Given the description of an element on the screen output the (x, y) to click on. 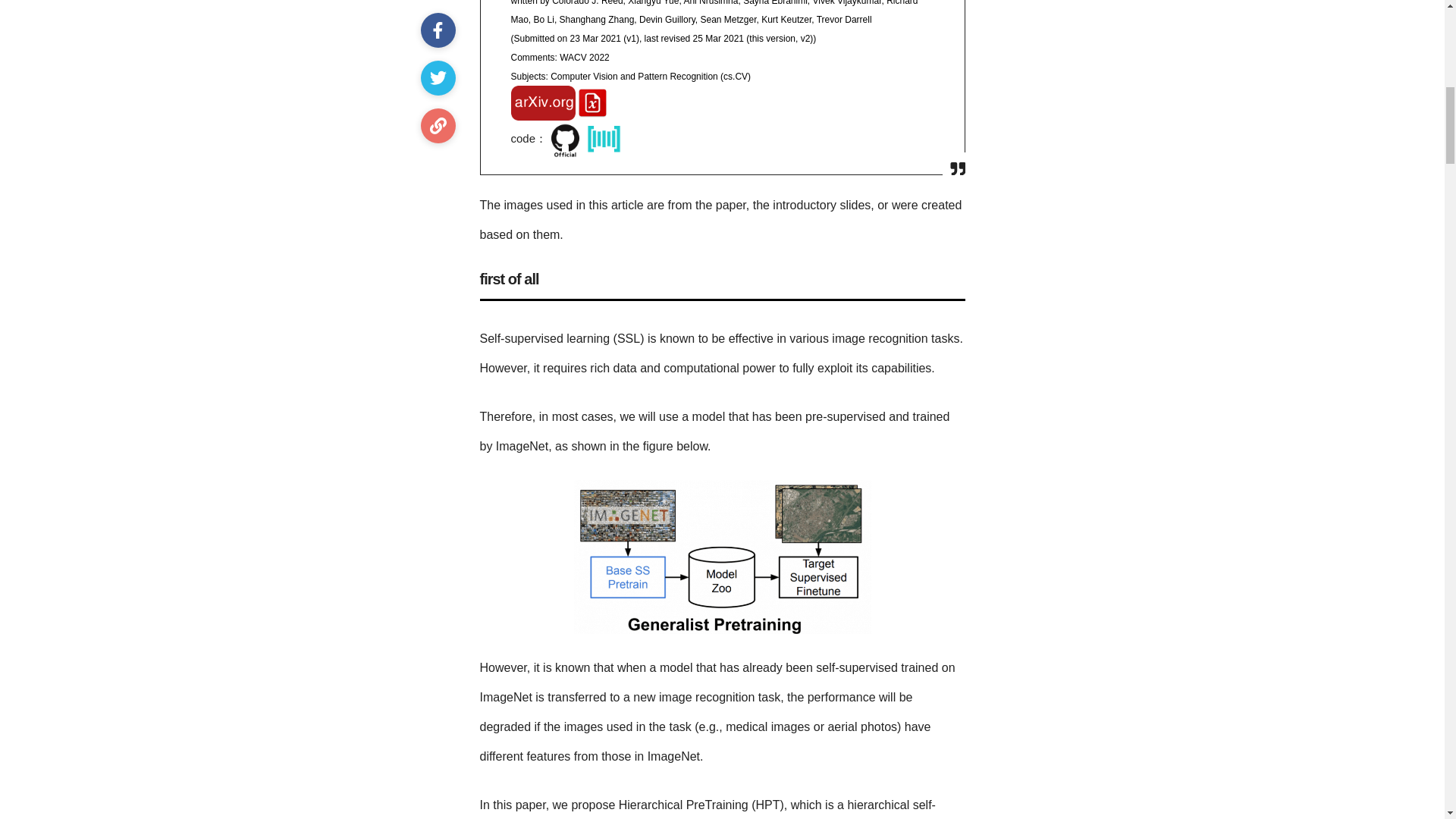
Bo Li (544, 19)
Colorado J. Reed (587, 2)
Ani Nrusimha (710, 2)
Trevor Darrell (844, 19)
Devin Guillory (667, 19)
Sayna Ebrahimi (775, 2)
Vivek Vijaykumar (847, 2)
Richard Mao (714, 12)
Xiangyu Yue (652, 2)
Kurt Keutzer (785, 19)
Sean Metzger (727, 19)
Shanghang Zhang (596, 19)
